Given the description of an element on the screen output the (x, y) to click on. 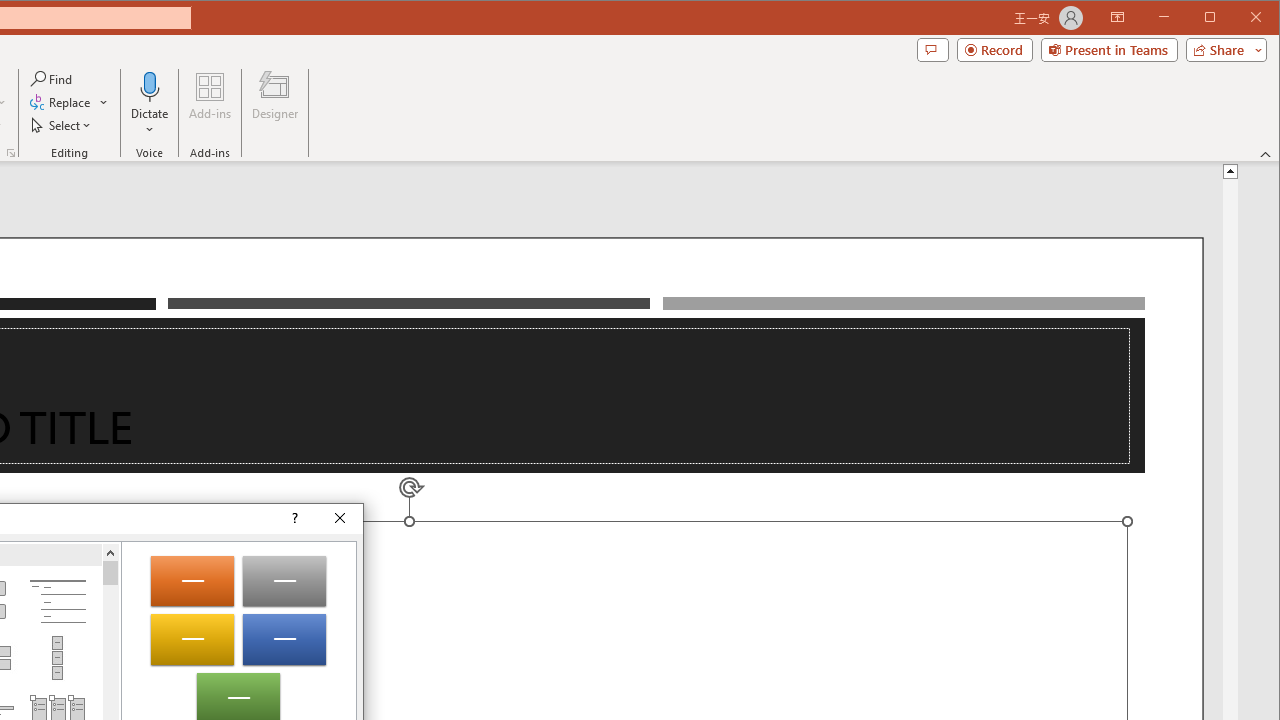
Context help (293, 518)
Lined List (57, 601)
